Given the description of an element on the screen output the (x, y) to click on. 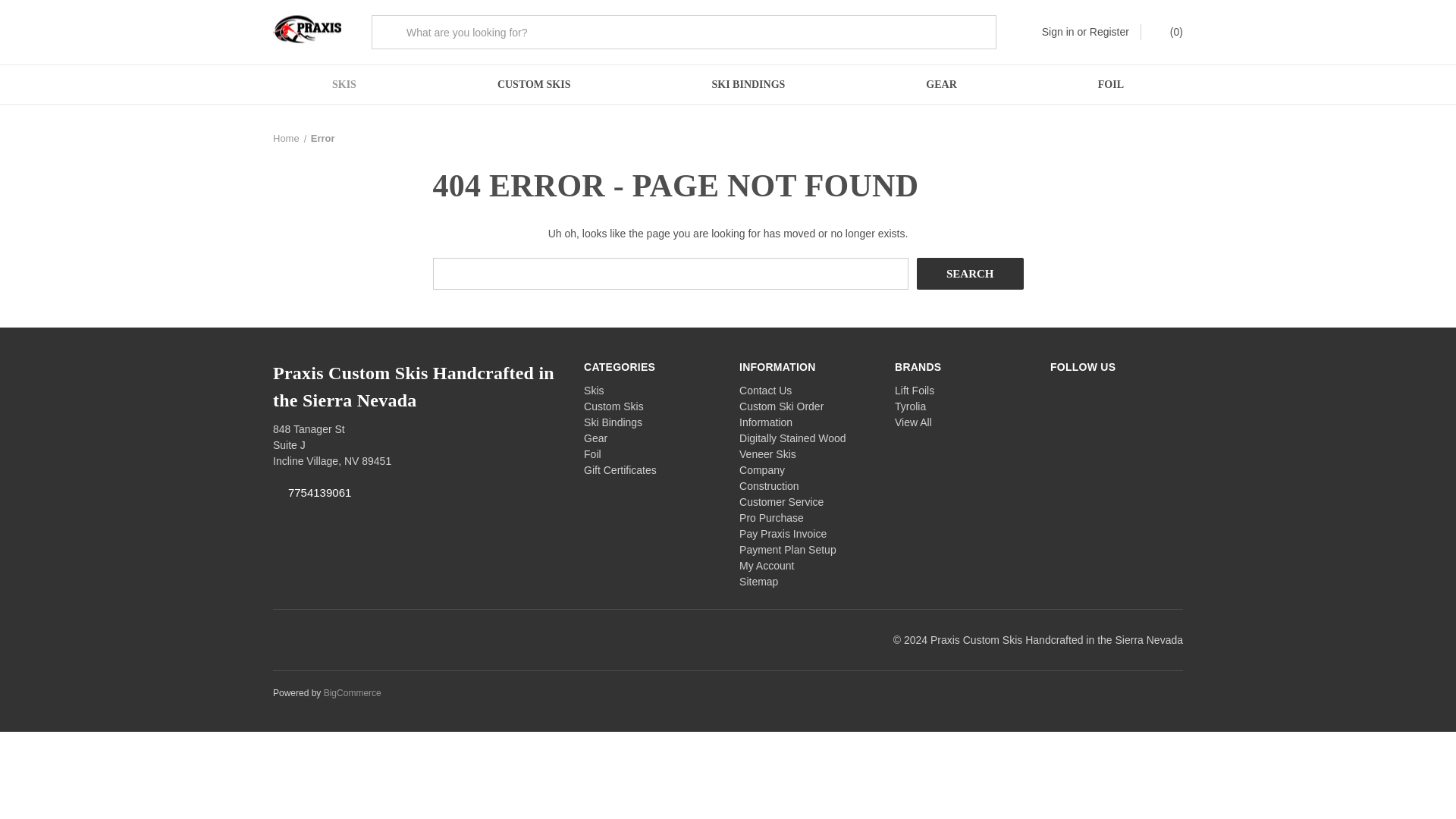
Search (970, 273)
Search (970, 273)
GEAR (941, 84)
Gear (595, 438)
Ski Bindings (612, 422)
Foil (592, 453)
Skis (593, 390)
Home (286, 138)
Custom Ski Order Information (781, 414)
SKIS (344, 84)
